Given the description of an element on the screen output the (x, y) to click on. 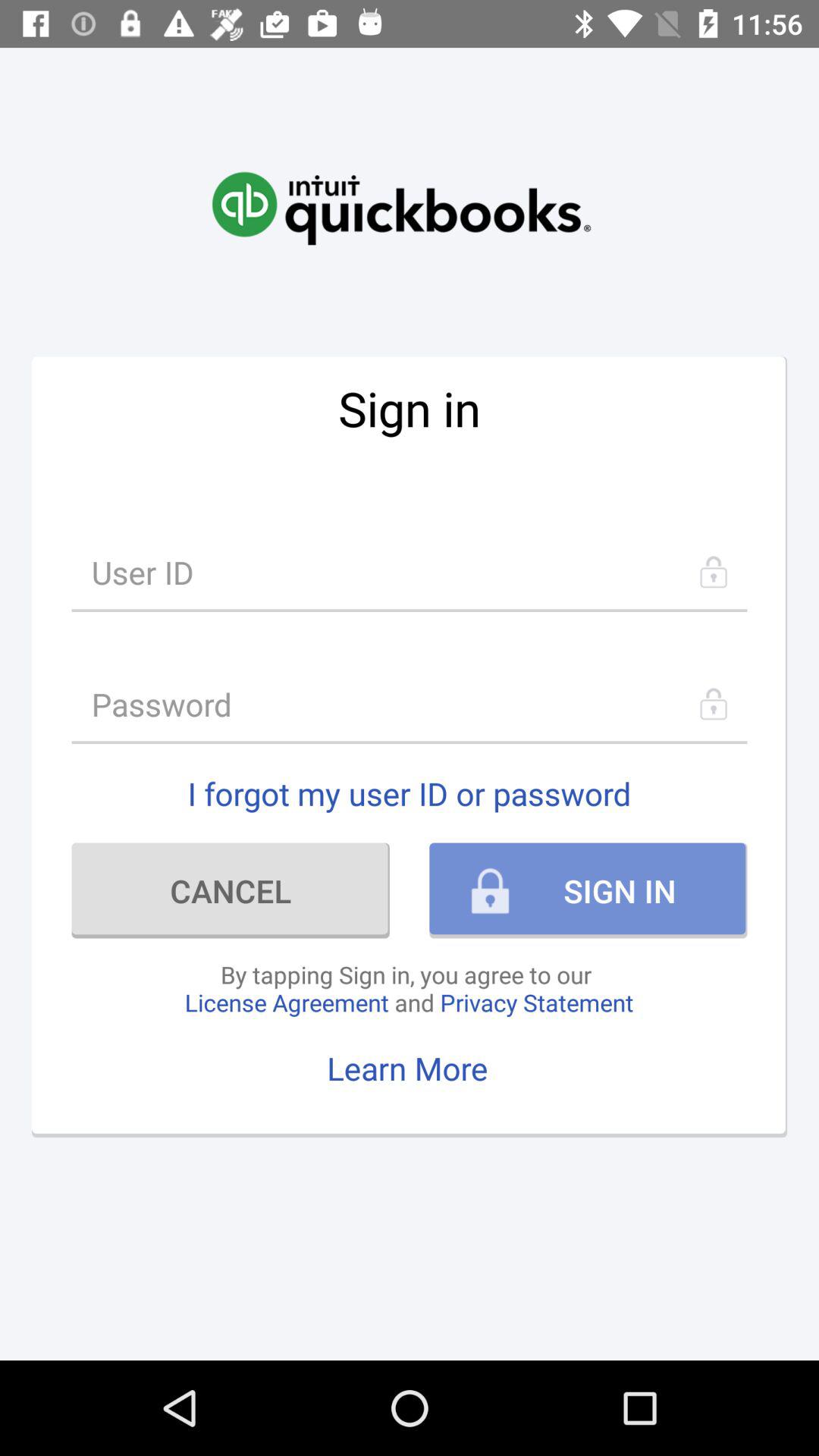
launch the item above sign in (401, 191)
